Given the description of an element on the screen output the (x, y) to click on. 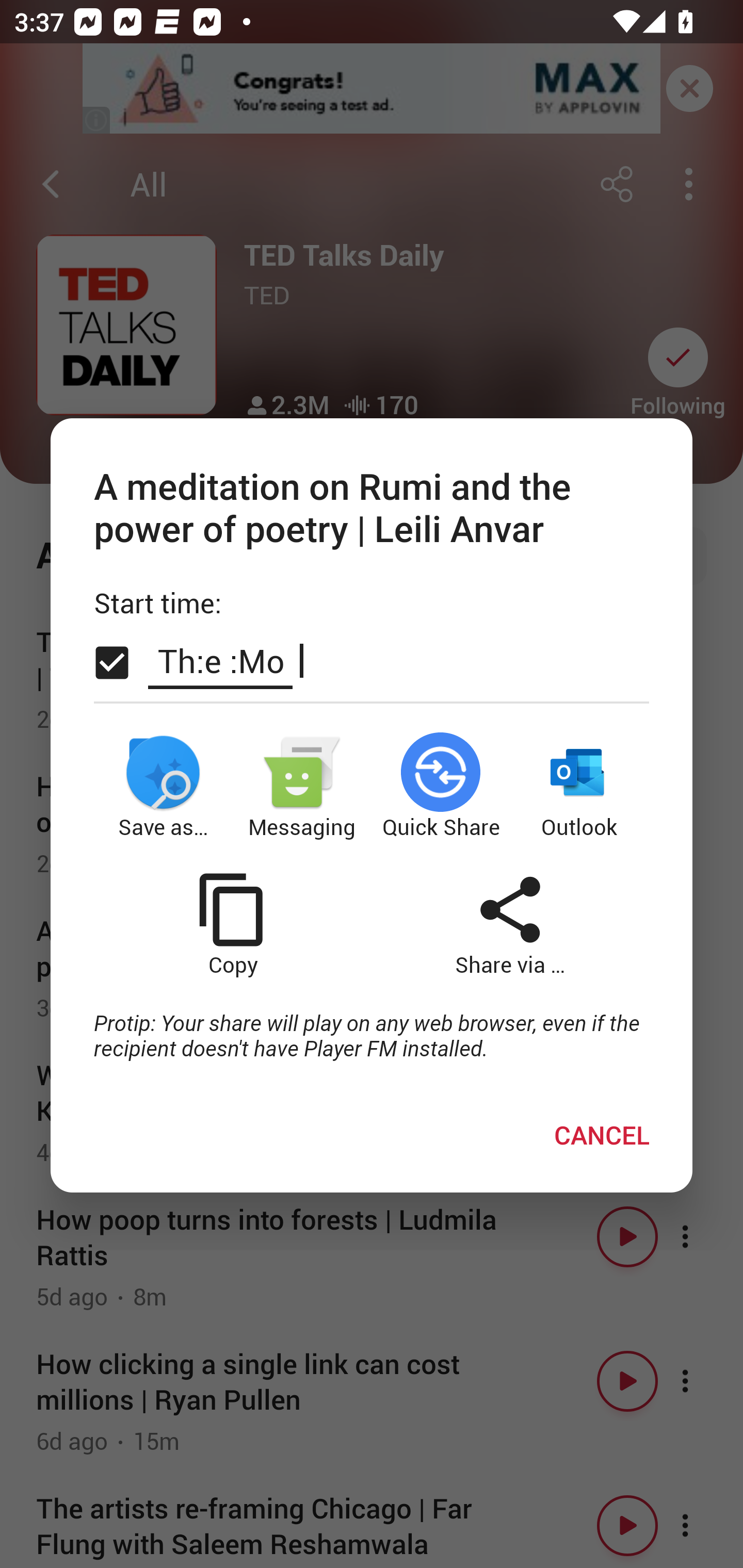
The Mo (220, 659)
Save as… (163, 787)
Messaging (301, 787)
Quick Share (440, 787)
Outlook (579, 787)
Copy (232, 924)
Share via … (509, 924)
CANCEL (600, 1134)
